Given the description of an element on the screen output the (x, y) to click on. 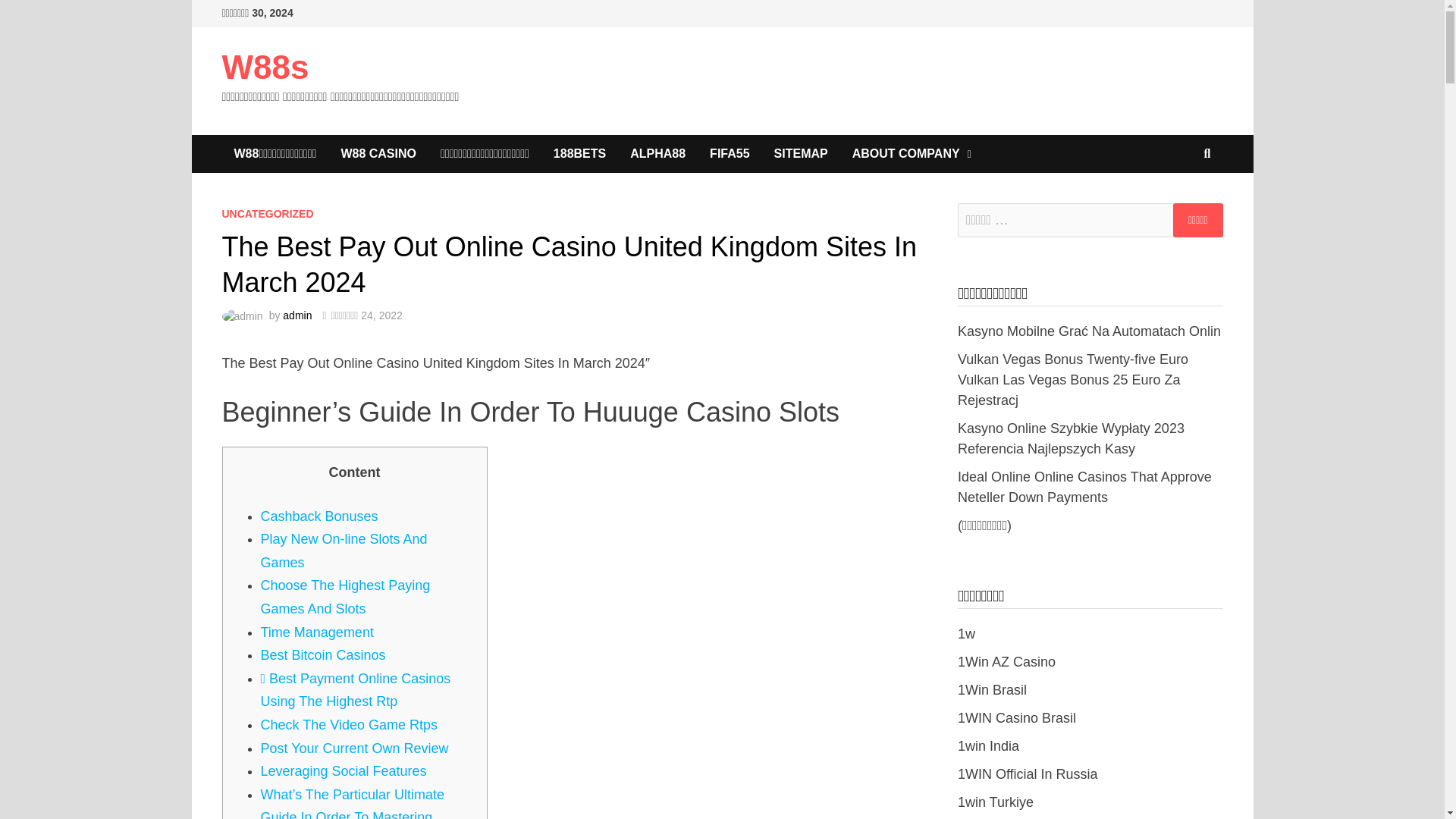
FIFA55 (729, 153)
W88 CASINO (378, 153)
UNCATEGORIZED (267, 214)
Play New On-line Slots And Games (344, 550)
Cashback Bonuses (319, 516)
ABOUT COMPANY (912, 153)
admin (296, 315)
SITEMAP (800, 153)
Time Management (317, 631)
188BETS (579, 153)
ALPHA88 (657, 153)
W88s (264, 66)
Best Bitcoin Casinos (322, 654)
Choose The Highest Paying Games And Slots (345, 597)
